Given the description of an element on the screen output the (x, y) to click on. 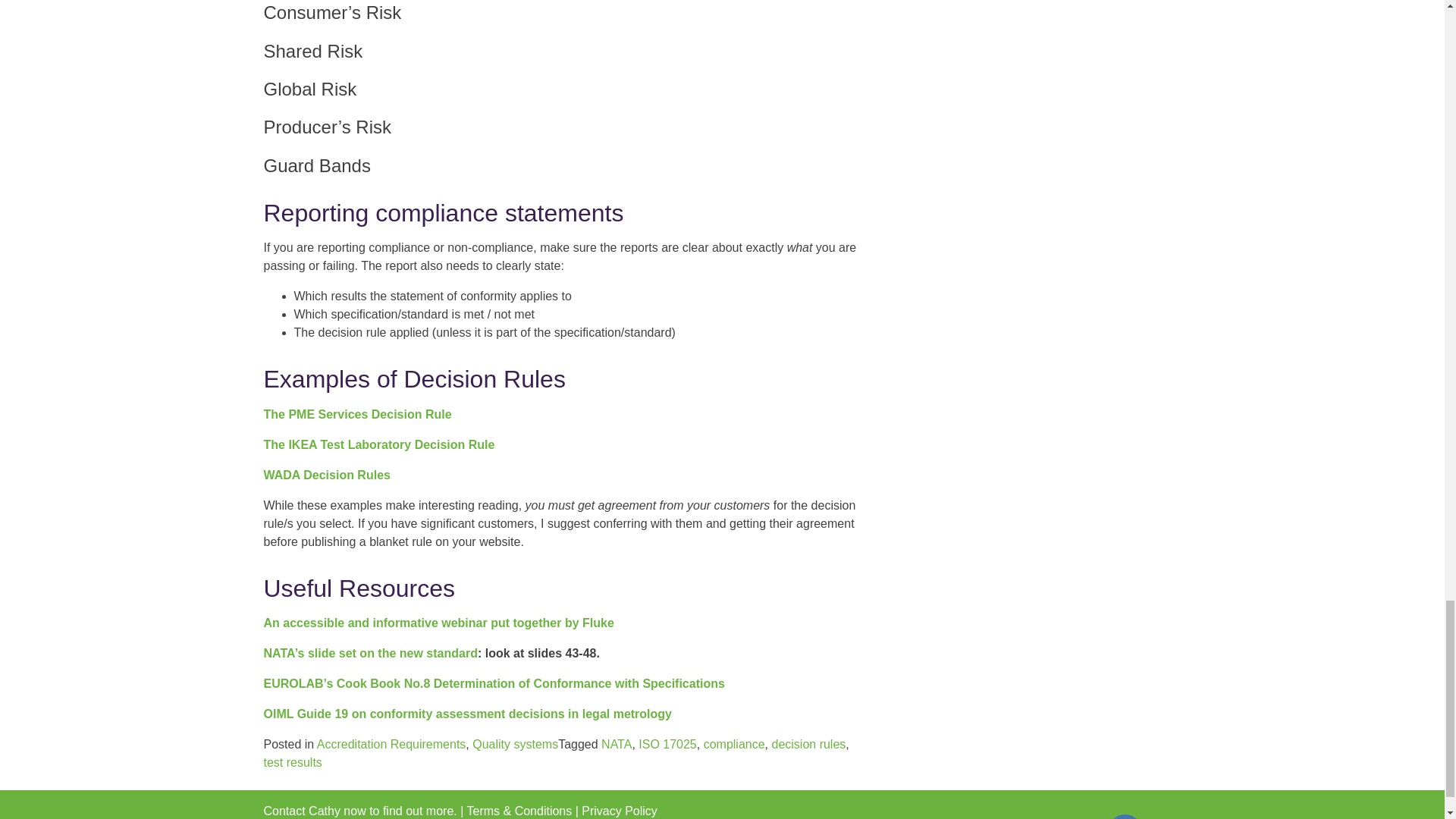
Quality systems (514, 744)
The PME Services Decision Rule (357, 413)
ISO 17025 (668, 744)
NATA (616, 744)
Linkedin (1124, 816)
compliance (734, 744)
The IKEA Test Laboratory Decision Rule (379, 444)
An accessible and informative webinar put together by Fluke (438, 622)
WADA Decision Rules (326, 474)
Accreditation Requirements (391, 744)
